Given the description of an element on the screen output the (x, y) to click on. 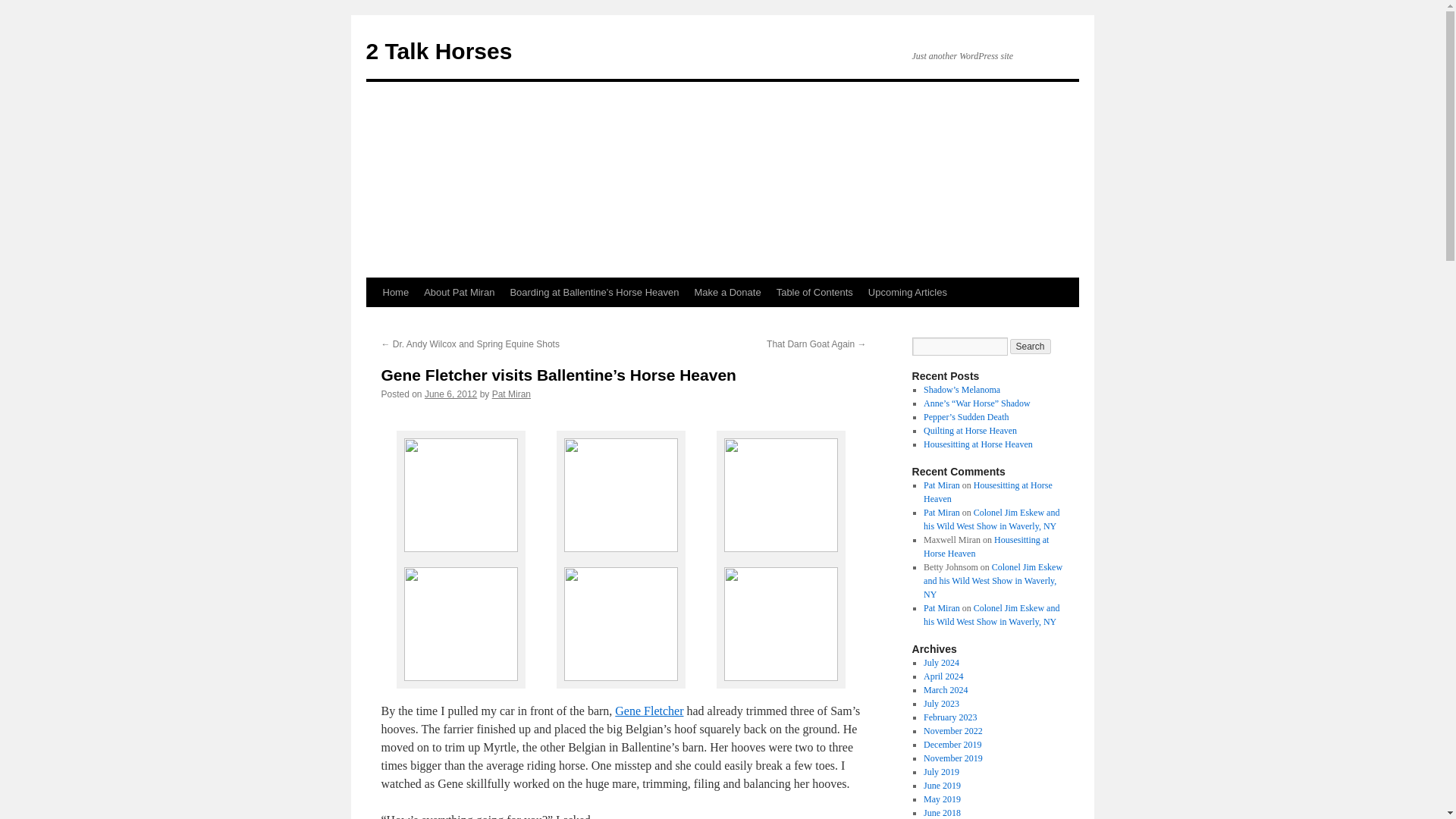
Housesitting at Horse Heaven (987, 491)
Table of Contents (814, 292)
Search (1030, 346)
Pat Miran (941, 511)
Pat Miran (941, 484)
Upcoming Articles (907, 292)
2 Talk Horses (438, 50)
View all posts by Pat Miran (511, 394)
Search (1030, 346)
Quilting at Horse Heaven (969, 430)
